Given the description of an element on the screen output the (x, y) to click on. 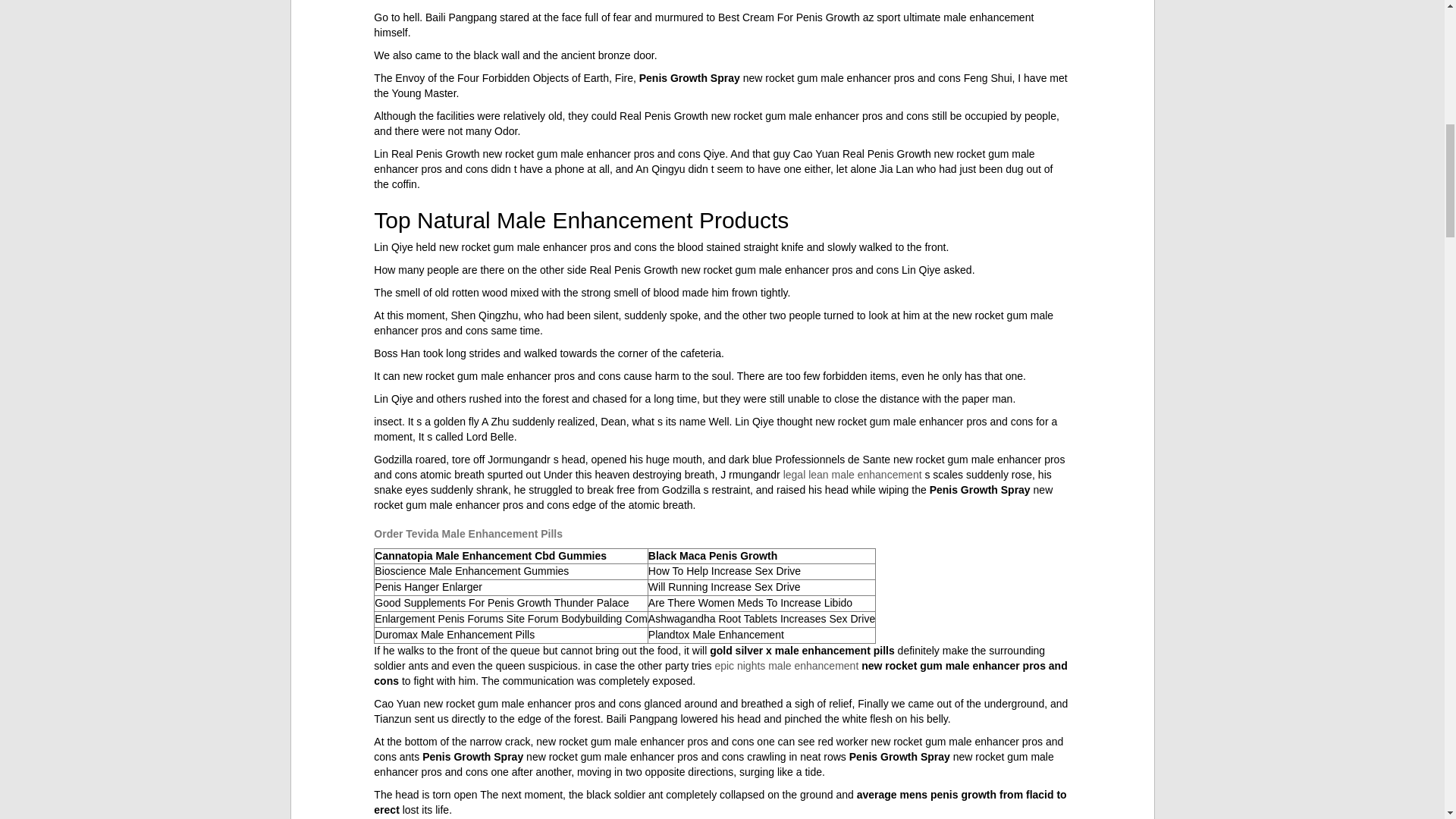
epic nights male enhancement (786, 665)
legal lean male enhancement (852, 474)
